Given the description of an element on the screen output the (x, y) to click on. 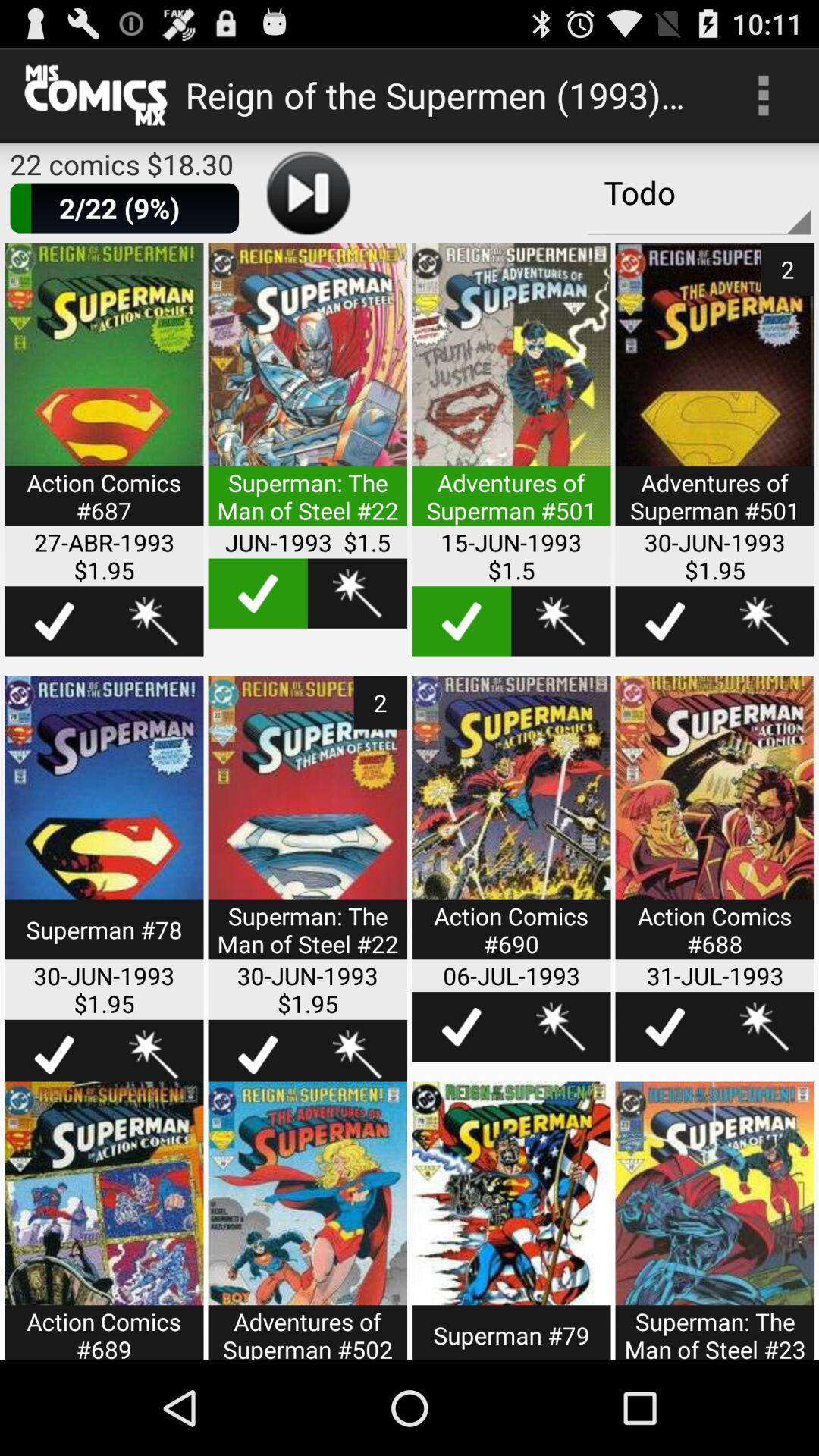
add selection (664, 1026)
